Given the description of an element on the screen output the (x, y) to click on. 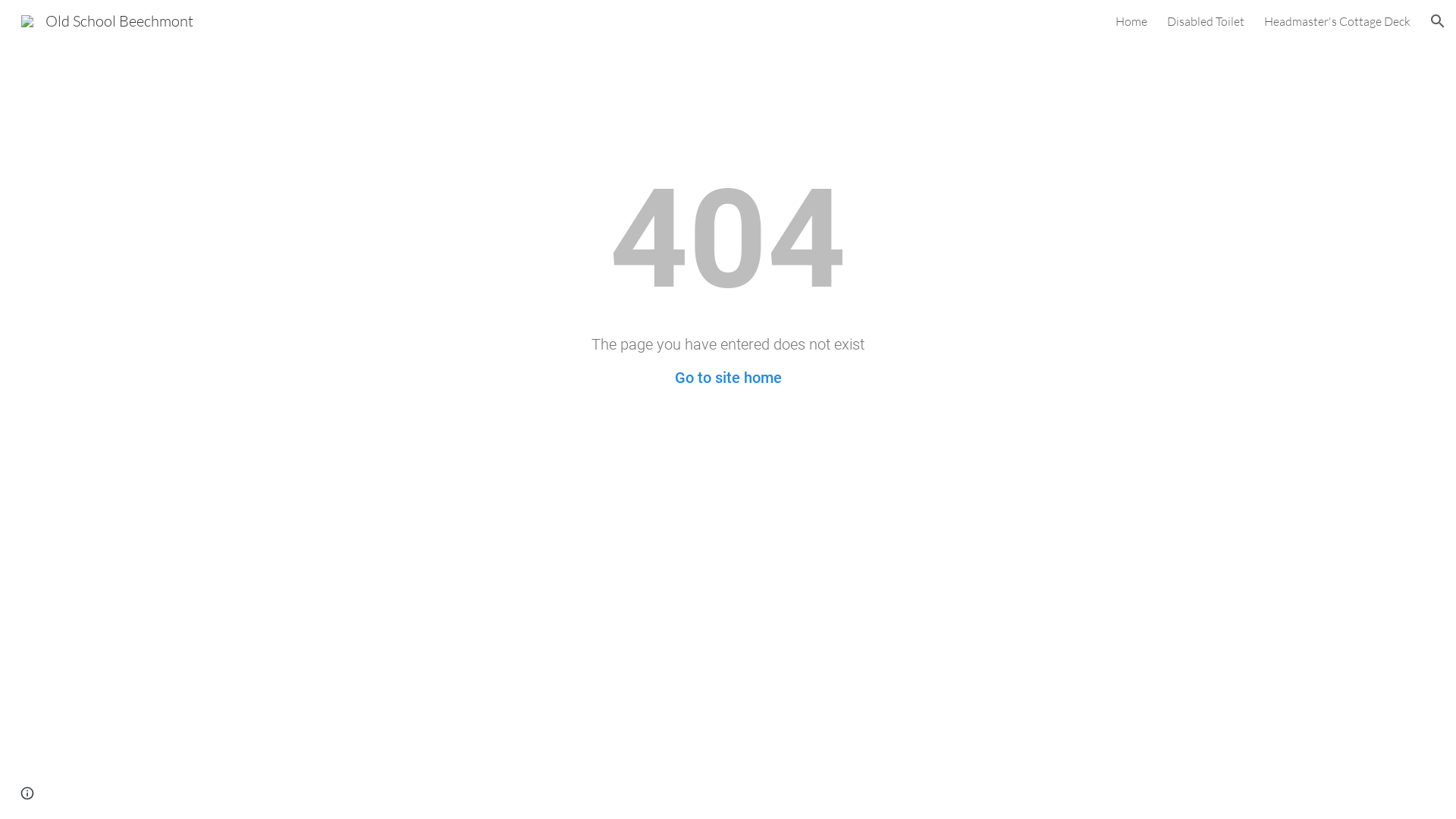
Old School Beechmont Element type: text (107, 18)
Home Element type: text (1131, 20)
Disabled Toilet Element type: text (1205, 20)
Headmaster's Cottage Deck Element type: text (1337, 20)
Go to site home Element type: text (727, 377)
